Given the description of an element on the screen output the (x, y) to click on. 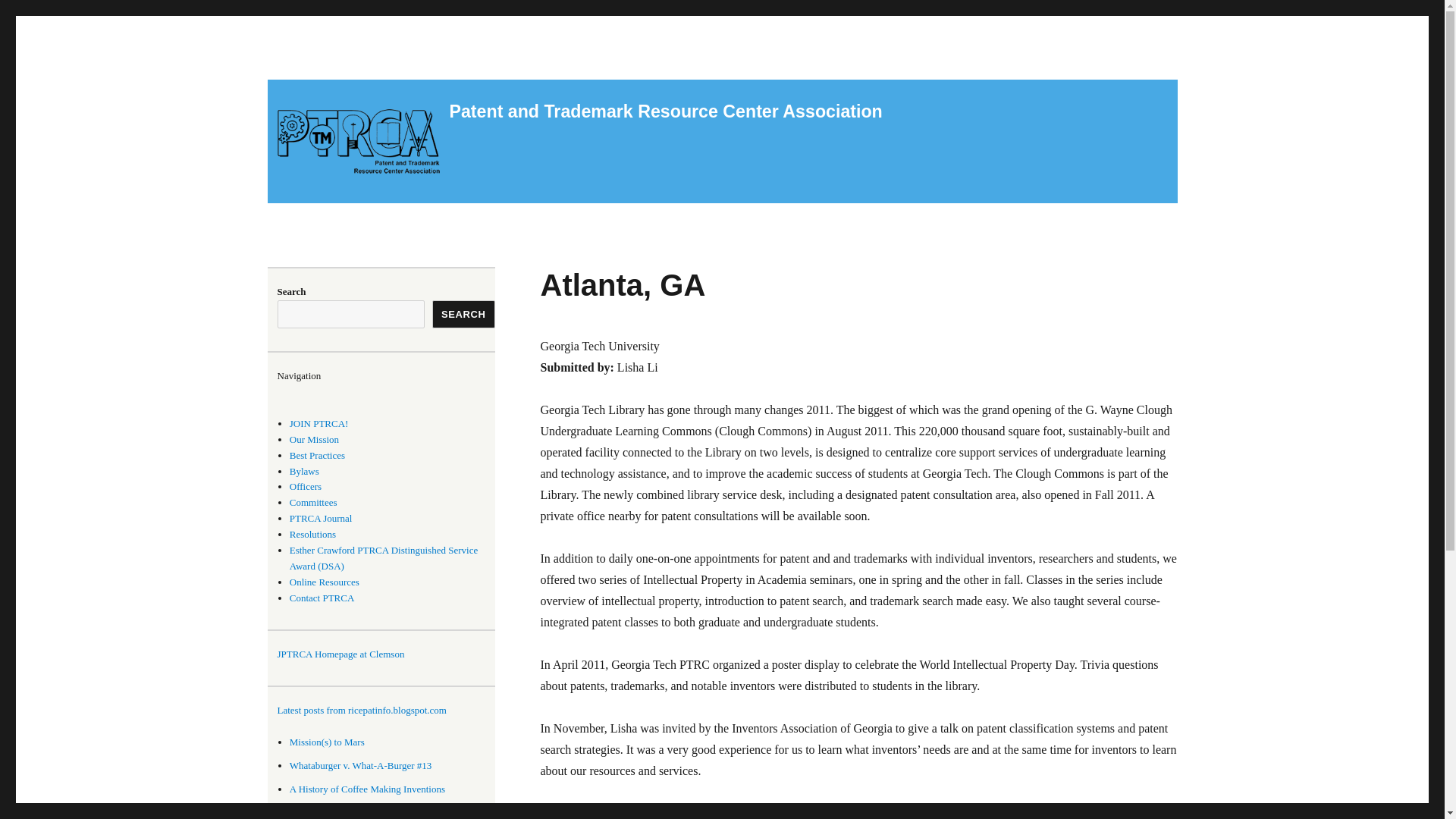
Committees (313, 501)
Best Practices (317, 455)
JPTRCA Homepage at Clemson (341, 654)
Contact PTRCA (322, 597)
Our Mission (314, 439)
JOIN PTRCA! (319, 423)
Patent and Trademark Resource Center Association (665, 111)
Officers (305, 486)
Resolutions (312, 533)
Latest posts from ricepatinfo.blogspot.com (386, 710)
A History of Coffee Making Inventions (367, 788)
PTRCA Journal (320, 518)
Online Resources (324, 582)
Bylaws (303, 471)
SEARCH (463, 314)
